Given the description of an element on the screen output the (x, y) to click on. 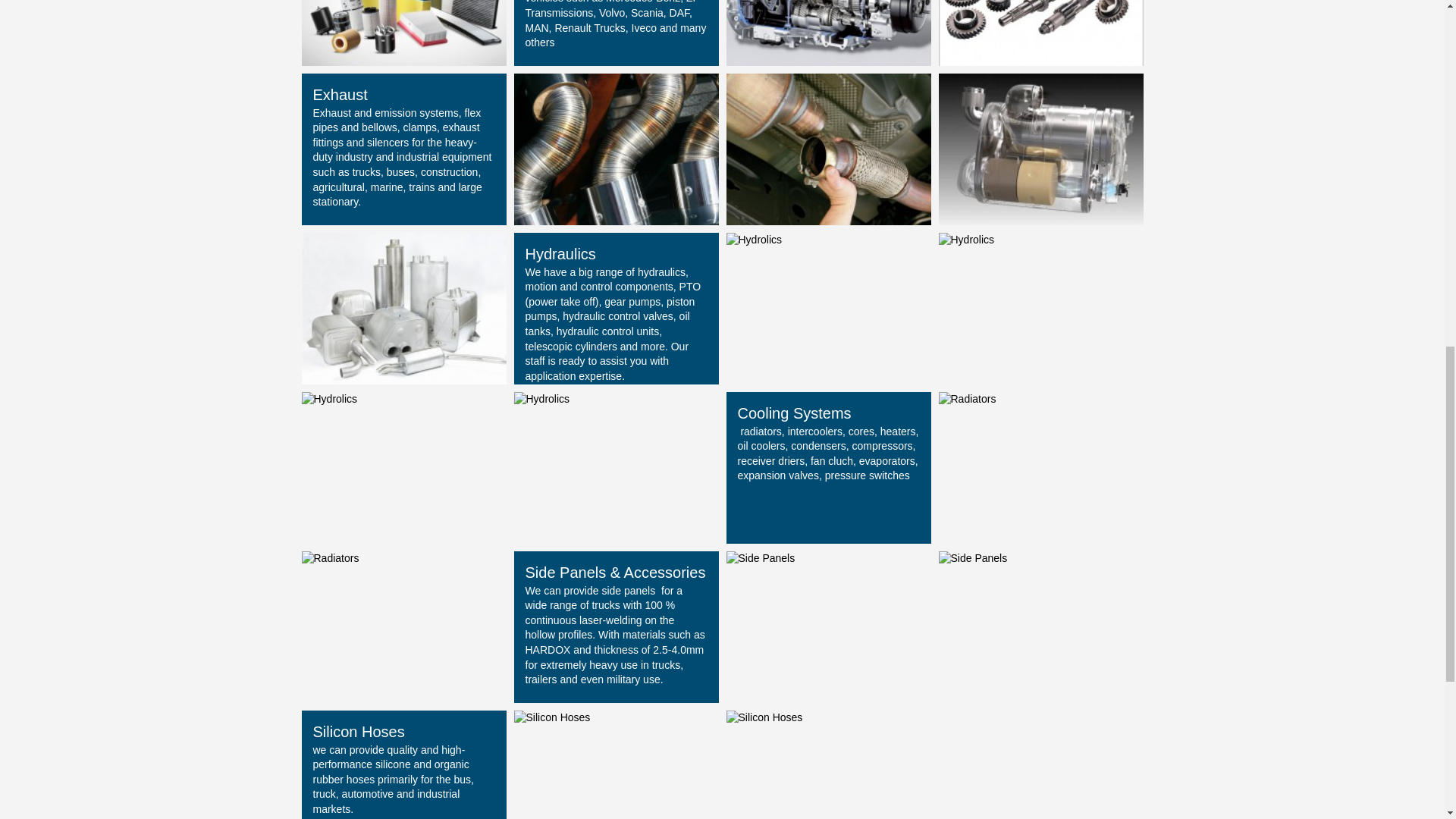
Hydrolics (541, 398)
Hydrolics (966, 239)
Side Panels (973, 558)
Silicon Hoses (764, 717)
Exaust (403, 308)
Hydrolics (754, 239)
Side Panels (760, 558)
Radiators (330, 558)
Exaust (1040, 149)
Silicon Hoses (552, 717)
